Given the description of an element on the screen output the (x, y) to click on. 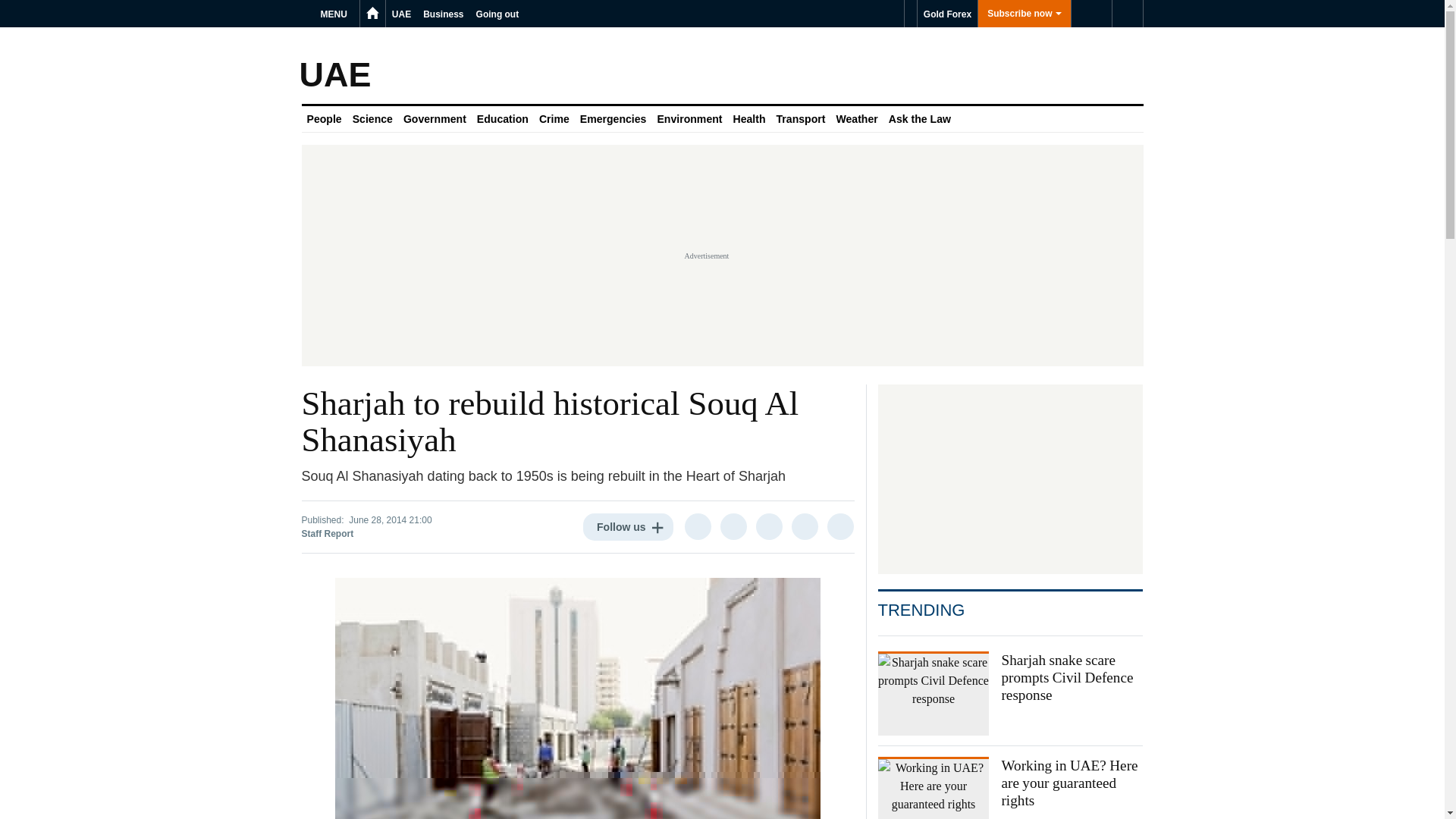
MENU (336, 13)
Going out (497, 13)
UAE (400, 13)
Business (442, 13)
Subscribe now (1024, 13)
Gold Forex (946, 13)
